Given the description of an element on the screen output the (x, y) to click on. 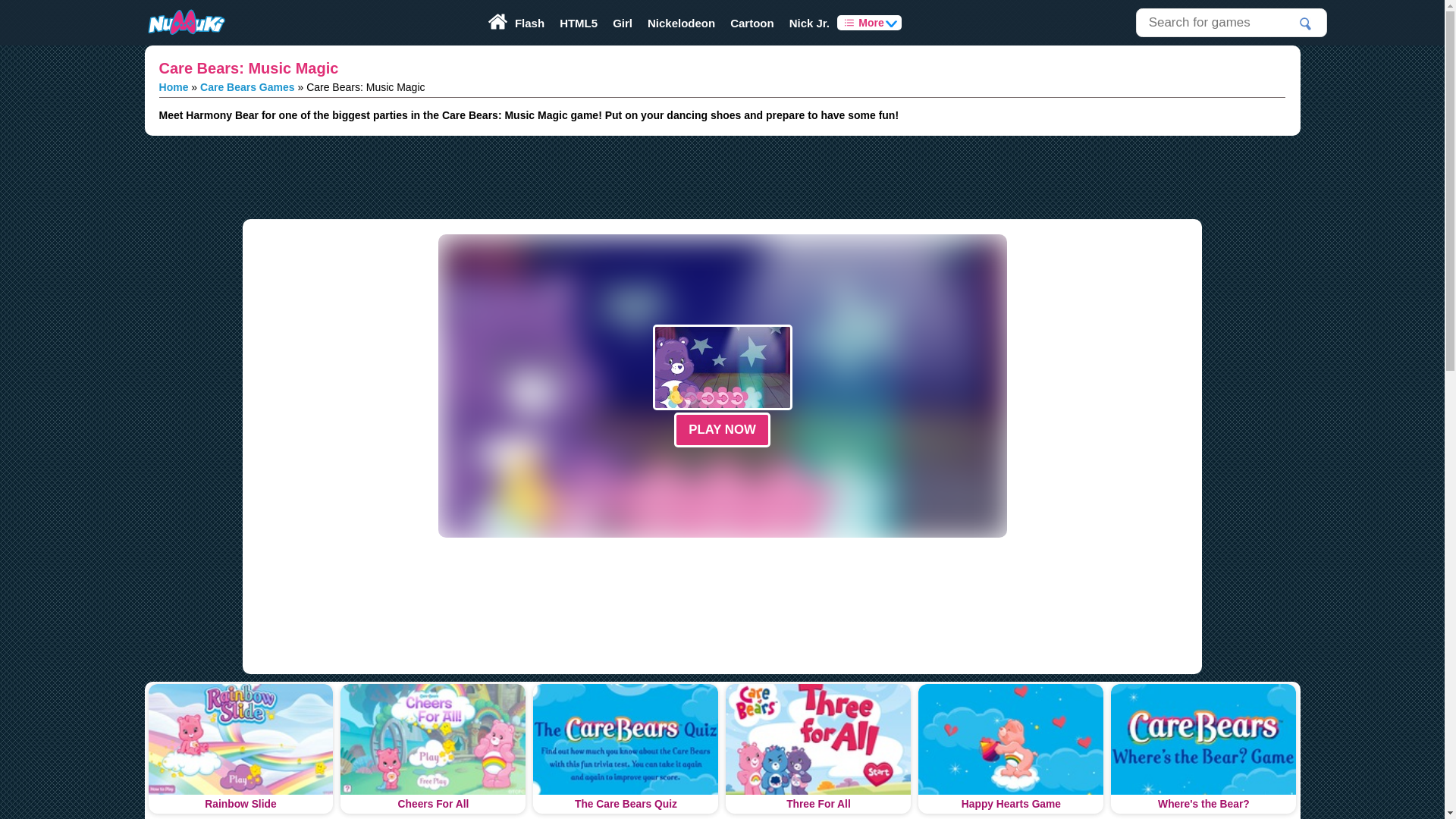
Cartoon (751, 22)
Play Fun Browser Games (185, 22)
Nickelodeon Games (681, 22)
HTML5 (578, 22)
More (869, 22)
Home (173, 87)
Cartoon Games (751, 22)
Nick Jr. (809, 22)
Flash Games (528, 22)
Girl (622, 22)
